Given the description of an element on the screen output the (x, y) to click on. 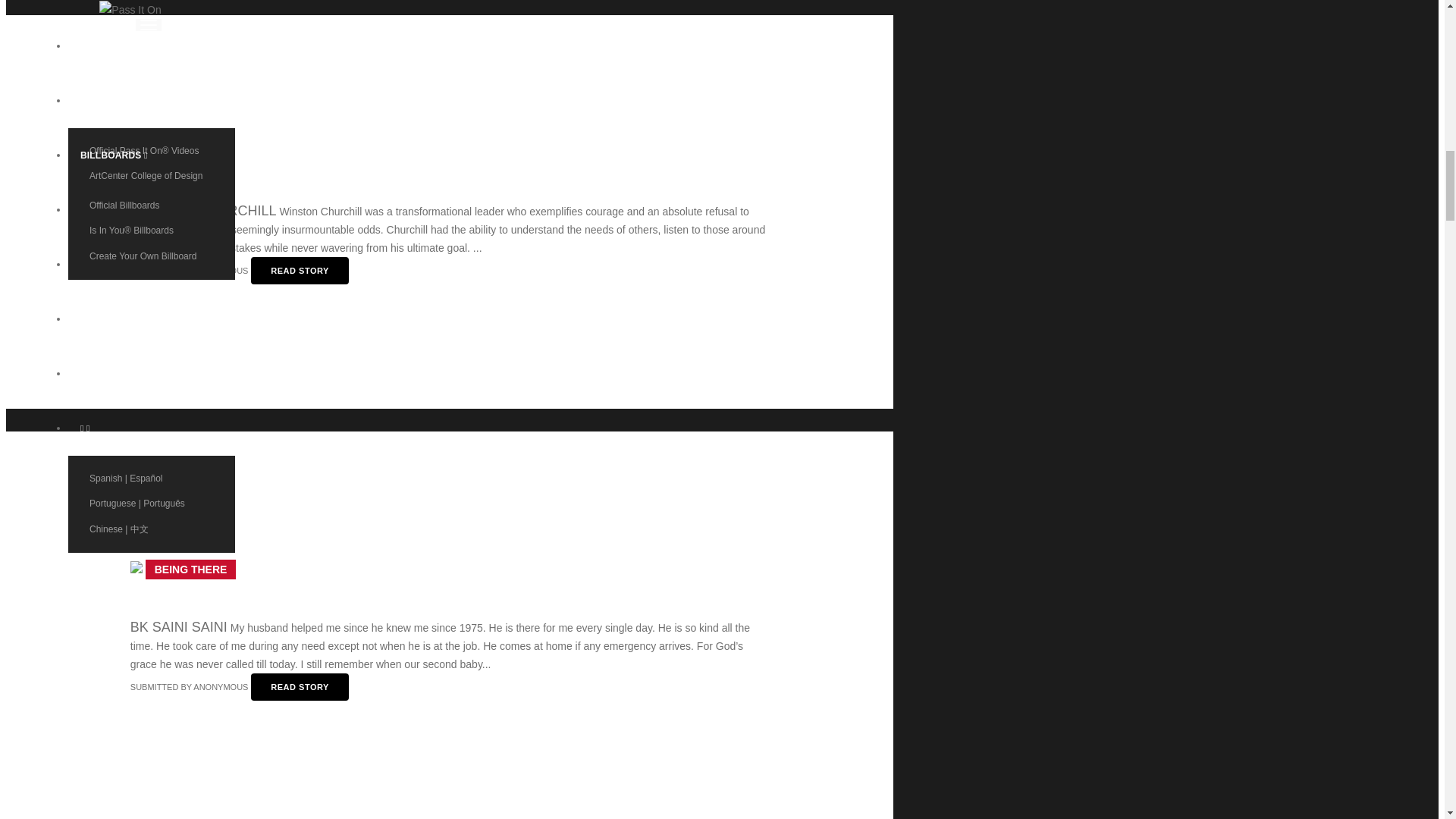
READ STORY (299, 270)
READ STORY (299, 687)
COURAGE (181, 152)
BEING THERE (190, 568)
